Given the description of an element on the screen output the (x, y) to click on. 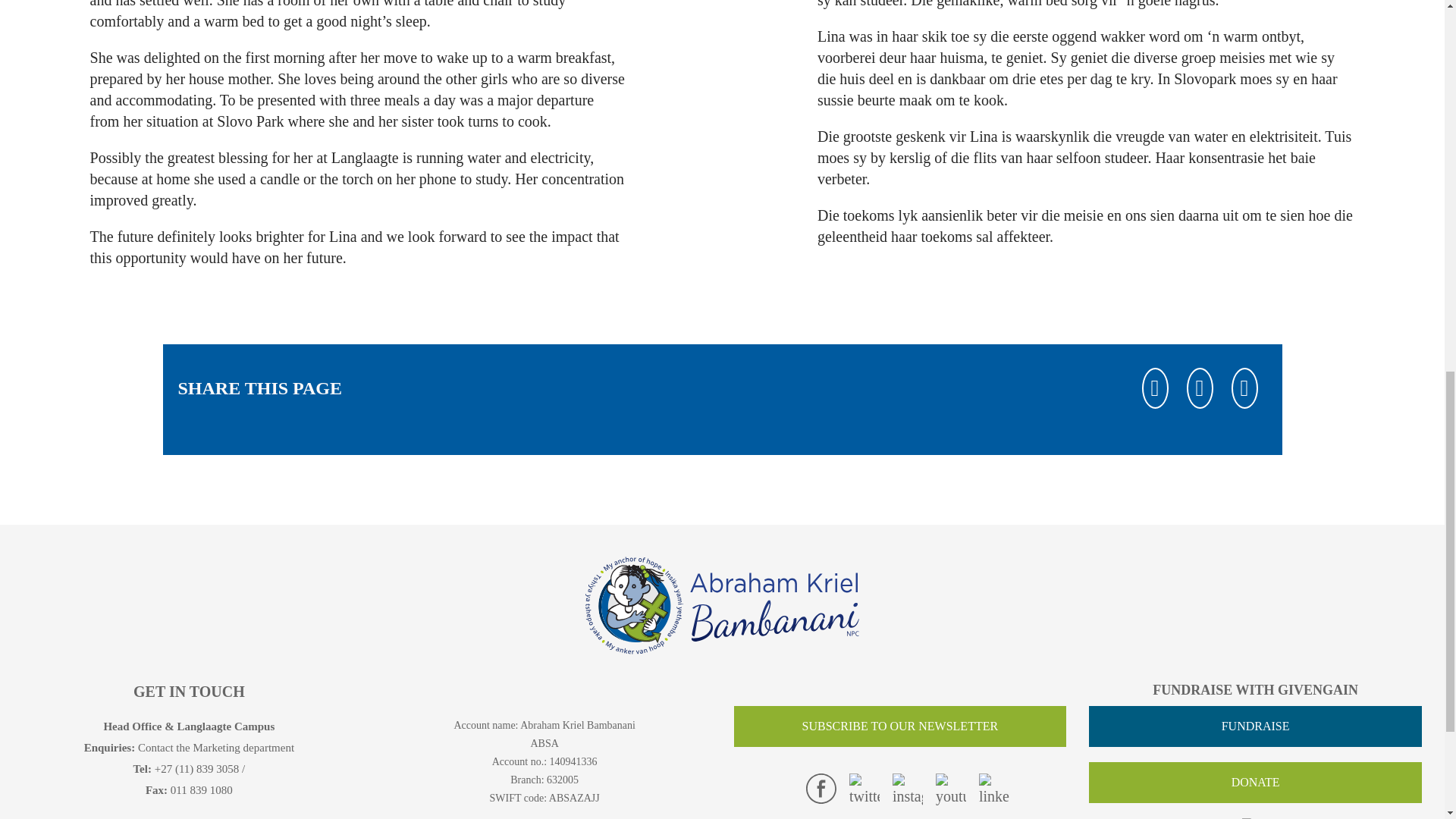
Youtube (951, 789)
Twitter (863, 789)
Facebook (820, 788)
Click to Call Us (197, 768)
Facebook (1154, 387)
Twitter (1200, 387)
LinkedIn (1244, 387)
Instgram (907, 789)
